Given the description of an element on the screen output the (x, y) to click on. 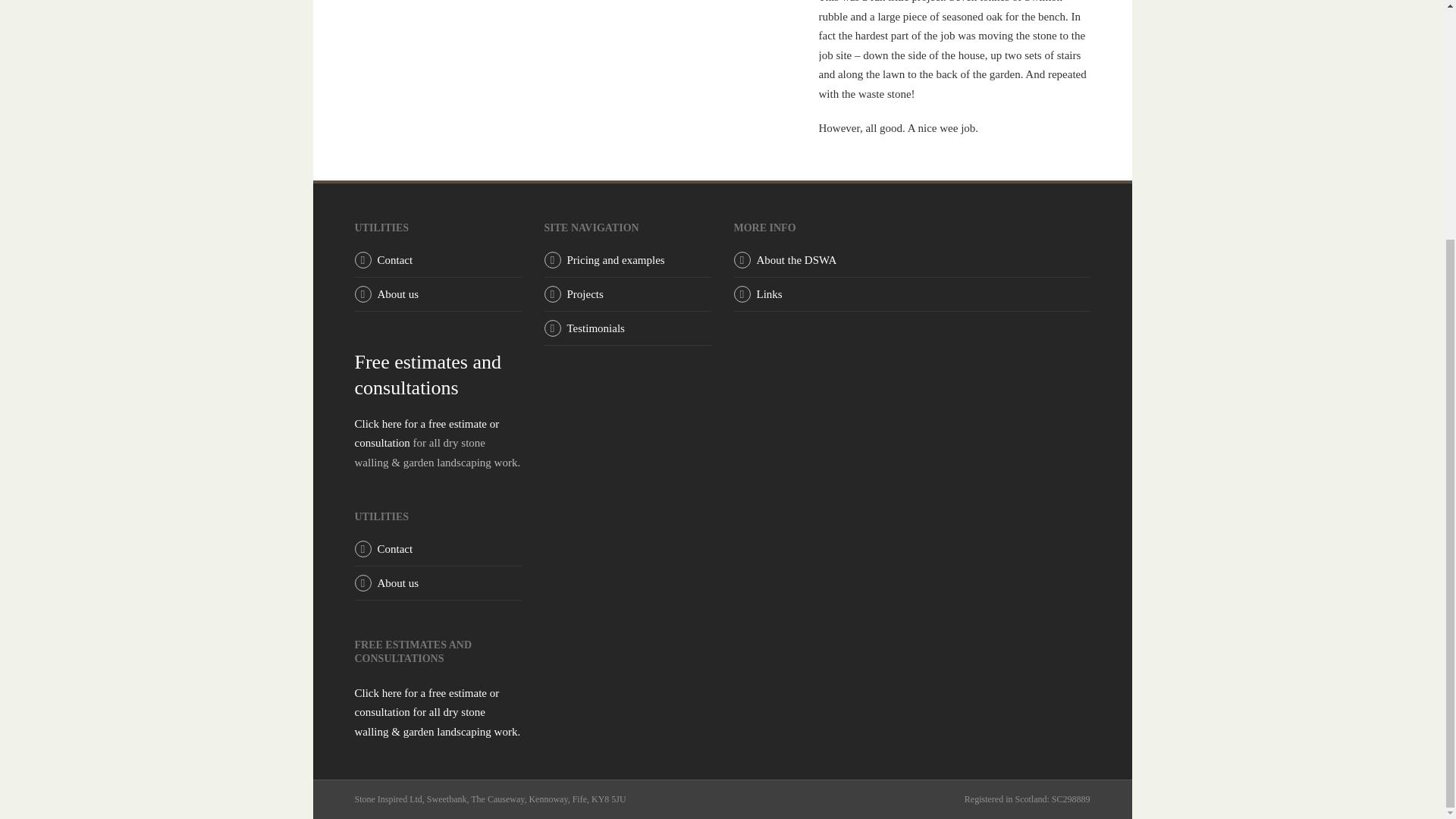
Testimonials (595, 328)
free estimate or consultation (438, 712)
About us (398, 582)
free estimate or consultation (428, 374)
Free estimates and consultations (428, 374)
Links (770, 294)
free estimate or consultation (427, 433)
About the DSWA (797, 259)
Contact (395, 259)
Click here for a free estimate or consultation (427, 433)
Pricing and examples (616, 259)
About us (398, 294)
Projects (585, 294)
Contact (395, 548)
